Given the description of an element on the screen output the (x, y) to click on. 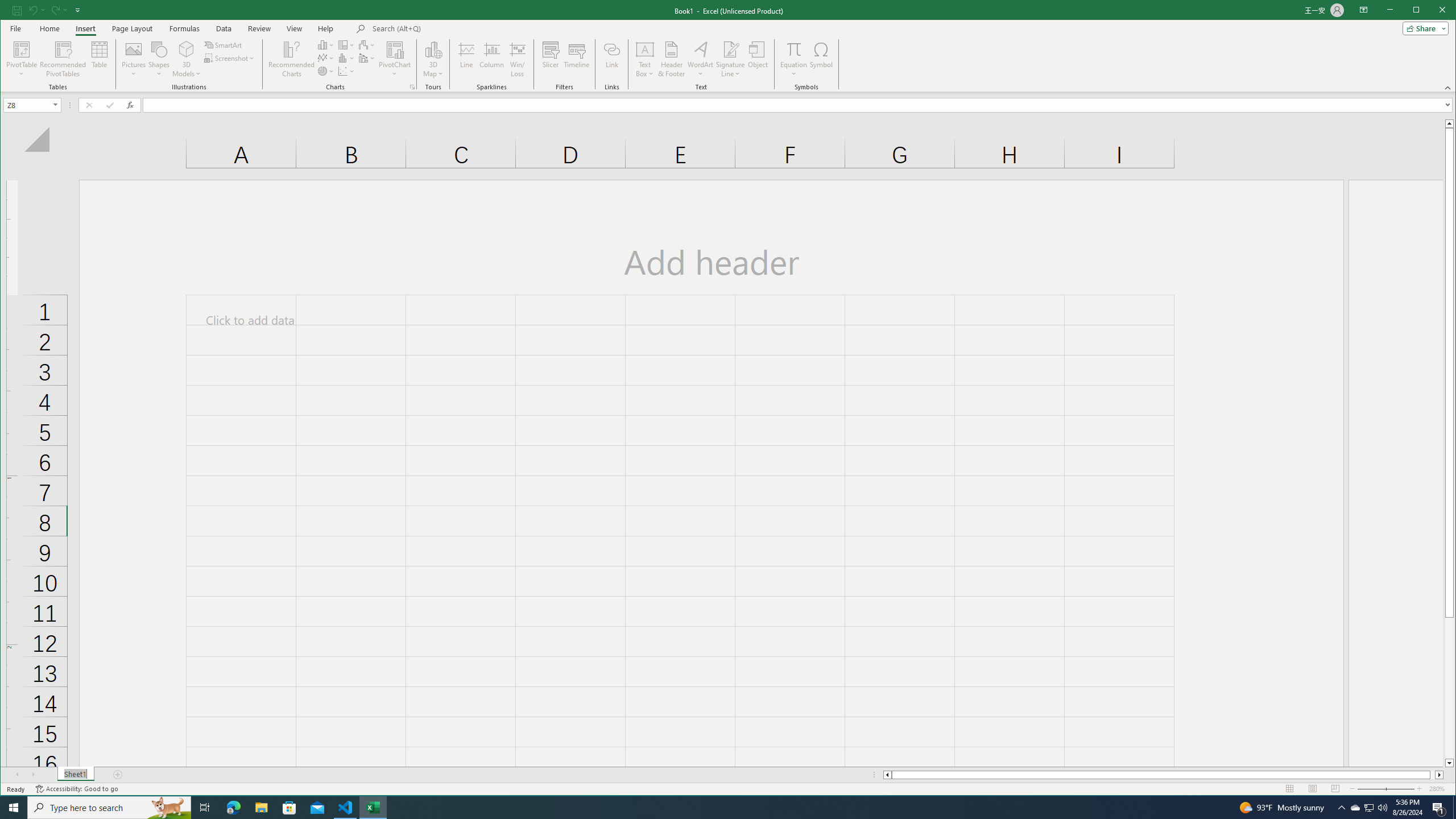
Timeline (576, 59)
WordArt (699, 59)
Notification Chevron (1341, 807)
Signature Line (729, 48)
Shapes (159, 59)
3D Map (432, 48)
Insert Hierarchy Chart (346, 44)
PivotChart (394, 59)
Column (492, 59)
